Given the description of an element on the screen output the (x, y) to click on. 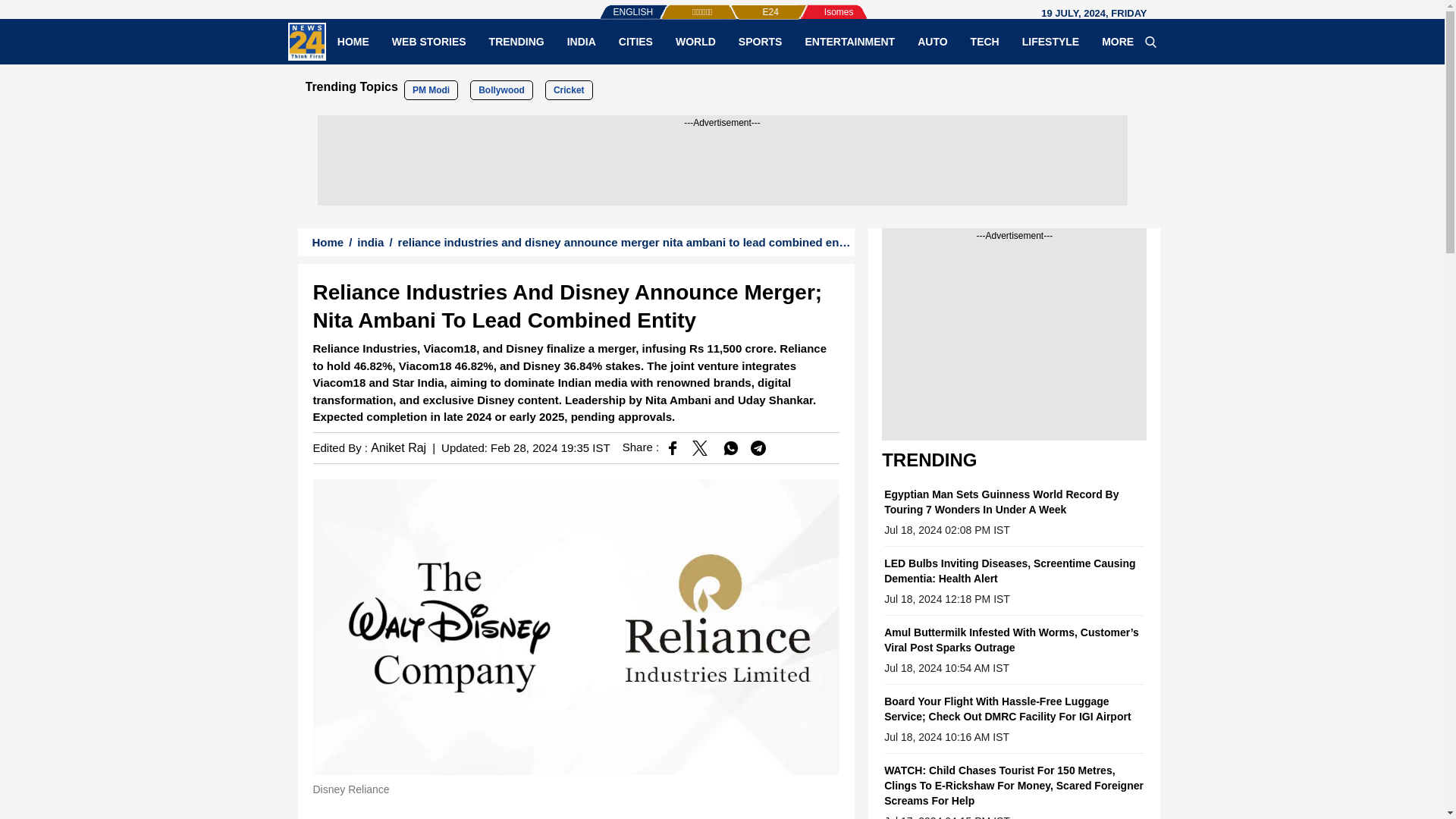
HOME (353, 41)
TECH (984, 41)
SPORTS (759, 41)
Isomes (814, 4)
WEB STORIES (428, 41)
E24 (744, 4)
TRENDING (516, 41)
INDIA (581, 41)
CITIES (635, 41)
WORLD (694, 41)
AUTO (931, 41)
ENTERTAINMENT (849, 41)
ENGLISH (601, 4)
LIFESTYLE (1050, 41)
